Given the description of an element on the screen output the (x, y) to click on. 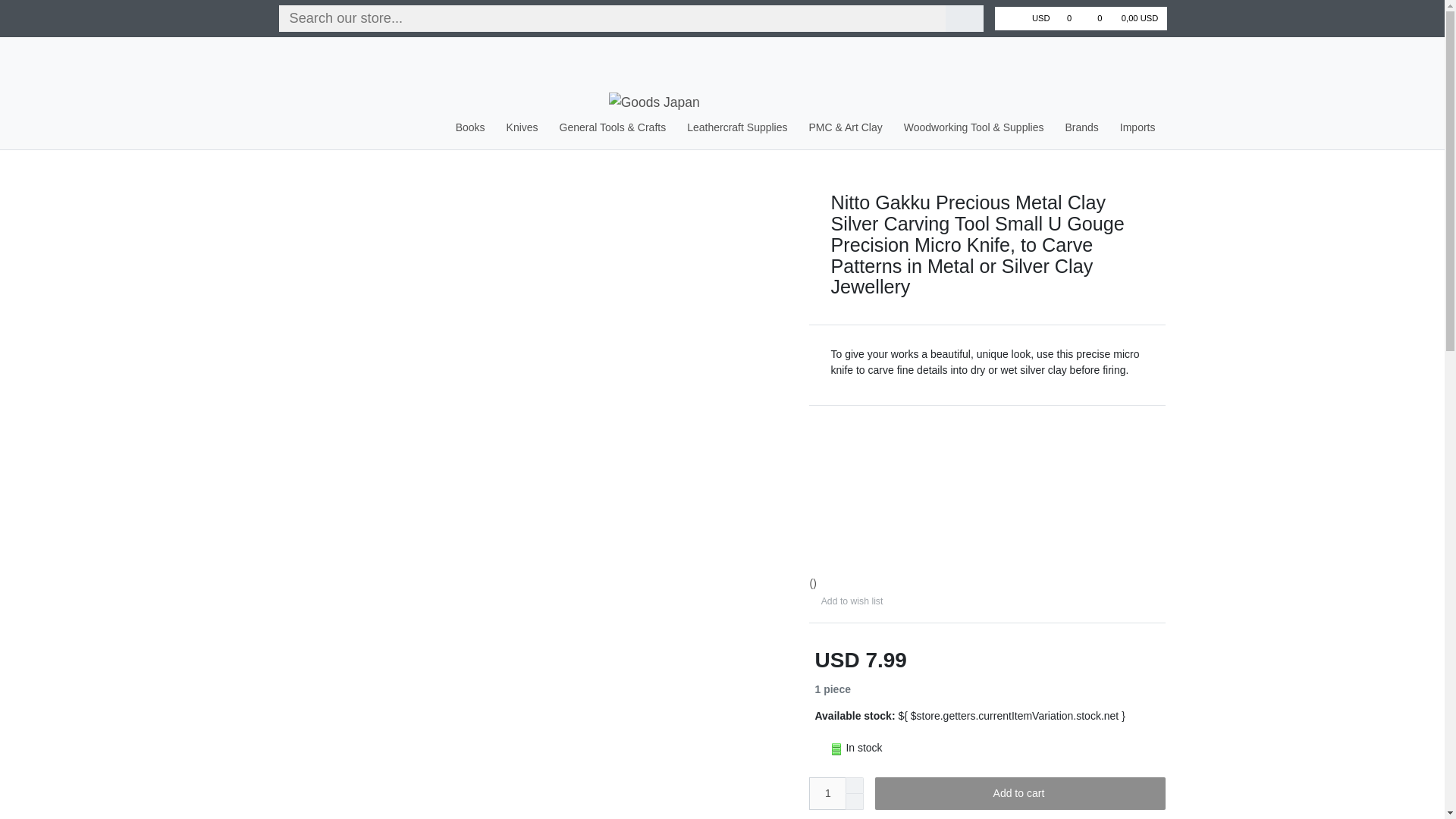
0 (1073, 18)
1 (827, 793)
USD (1040, 18)
Add to wish list (848, 601)
Minimum order quantity: 1 (854, 801)
Maximum order quantity:  (854, 785)
0 0,00 USD (1127, 18)
